Given the description of an element on the screen output the (x, y) to click on. 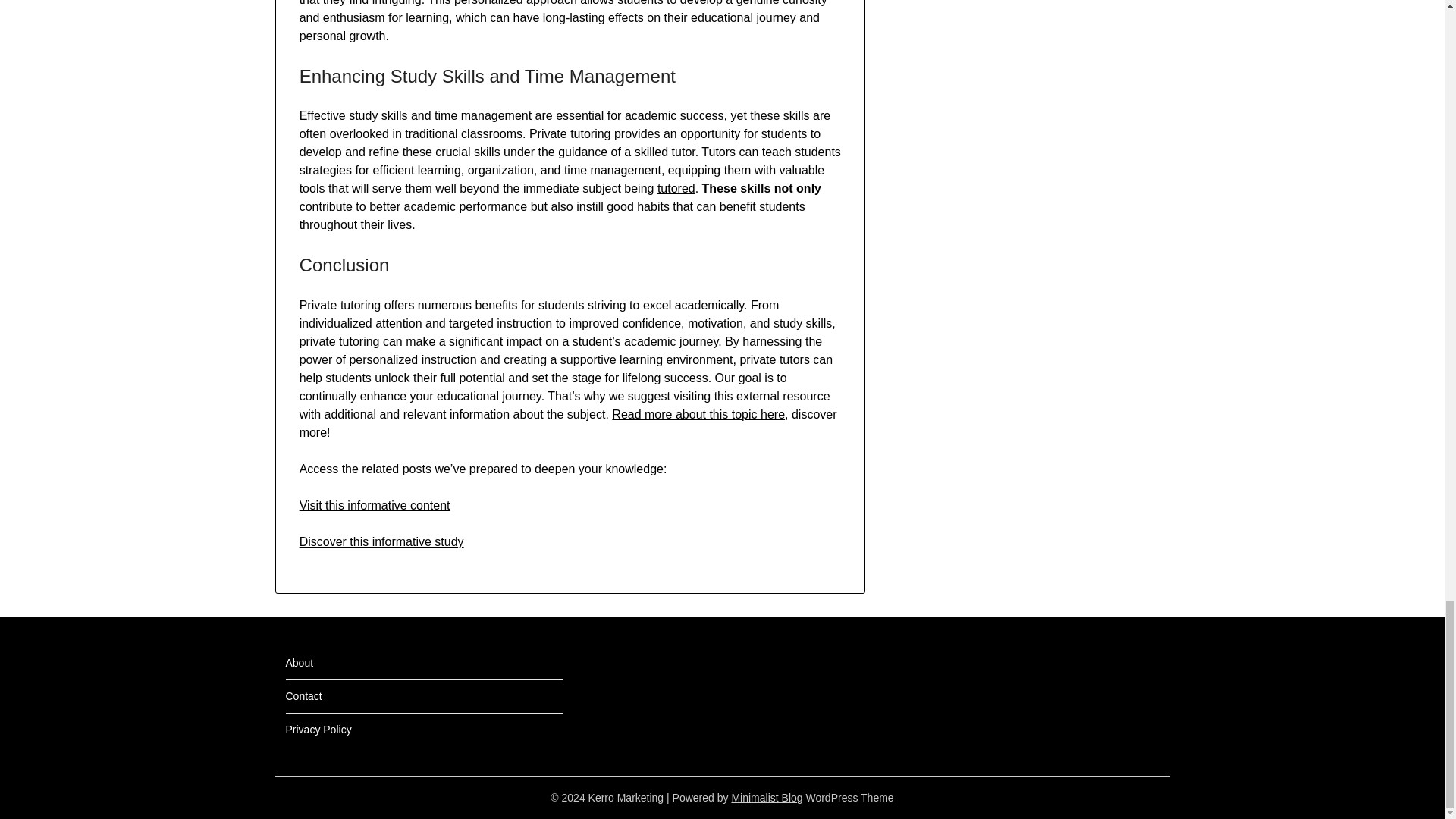
Read more about this topic here (697, 413)
About (299, 662)
Contact (303, 695)
Visit this informative content (374, 504)
tutored (676, 187)
Discover this informative study (381, 541)
Minimalist Blog (766, 797)
Privacy Policy (317, 729)
